Given the description of an element on the screen output the (x, y) to click on. 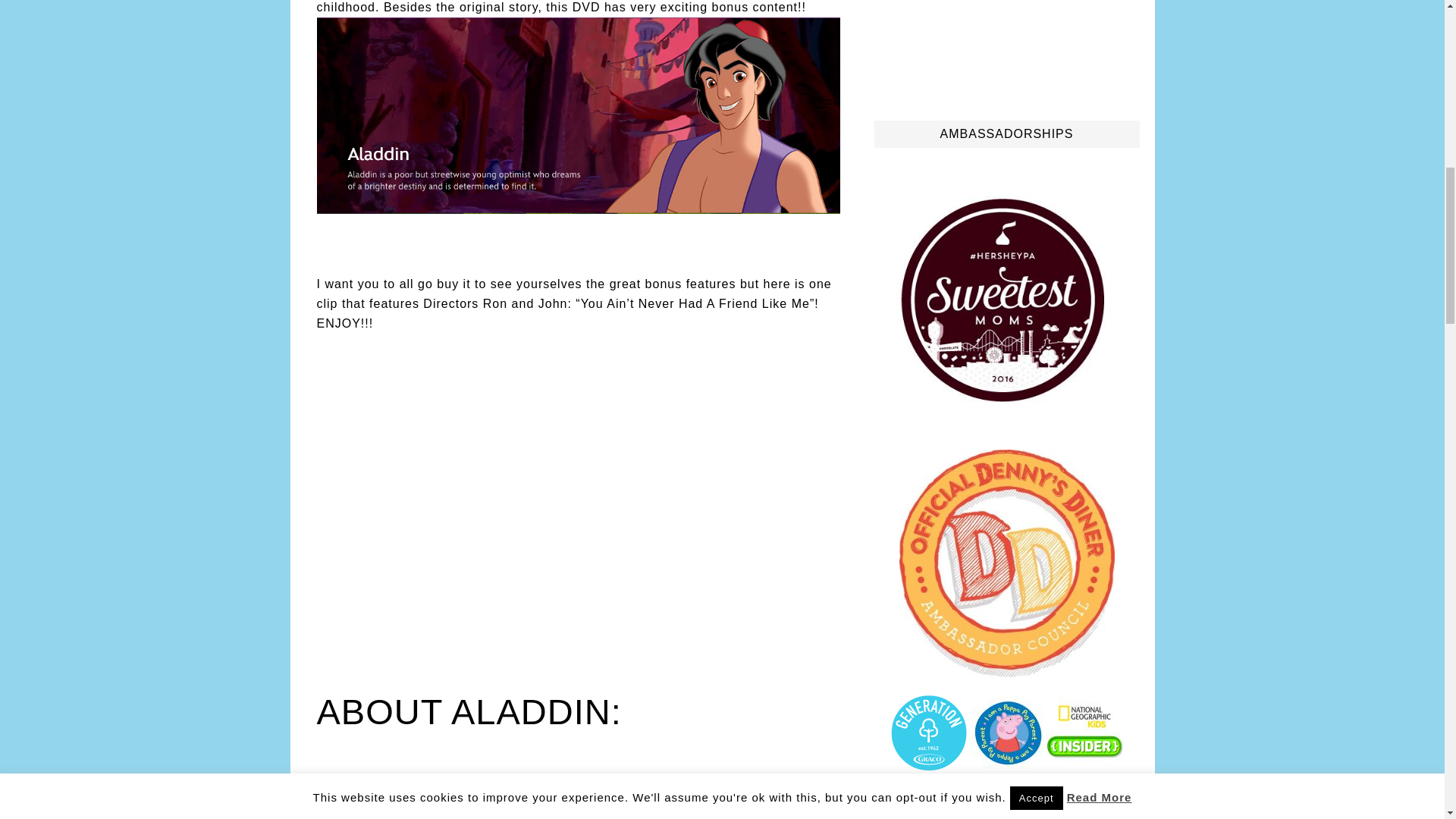
maytag-laundry-badge-1 (928, 796)
Generation Graco Ambassador (928, 764)
